Given the description of an element on the screen output the (x, y) to click on. 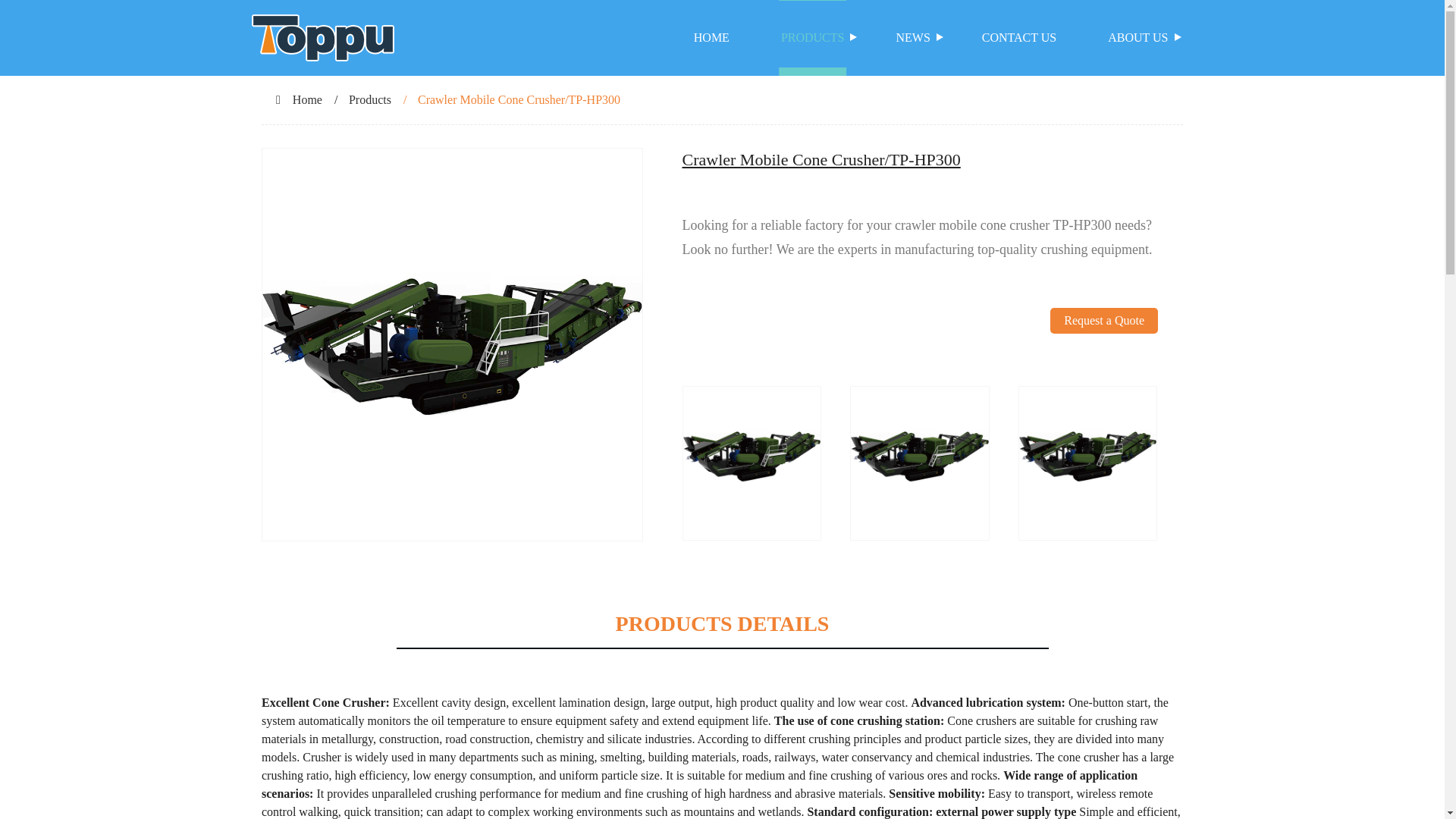
PRODUCTS (812, 38)
CONTACT US (1018, 38)
Home (306, 99)
Request a Quote (1103, 346)
Products (370, 99)
